Given the description of an element on the screen output the (x, y) to click on. 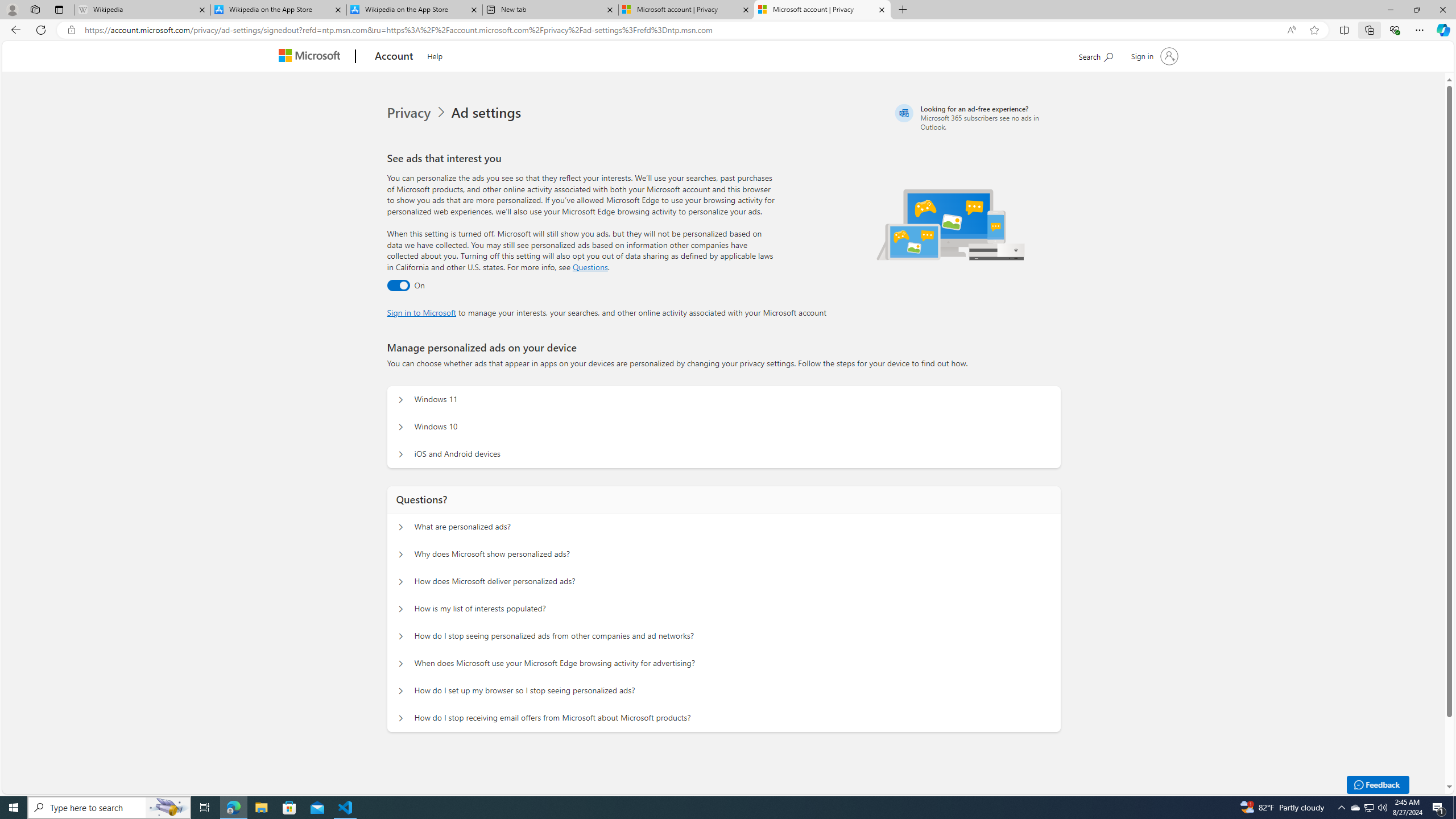
Microsoft (311, 56)
Manage personalized ads on your device Windows 10 (401, 427)
Search Microsoft.com (1095, 54)
Questions? How does Microsoft deliver personalized ads? (401, 581)
Questions? What are personalized ads? (401, 526)
